Given the description of an element on the screen output the (x, y) to click on. 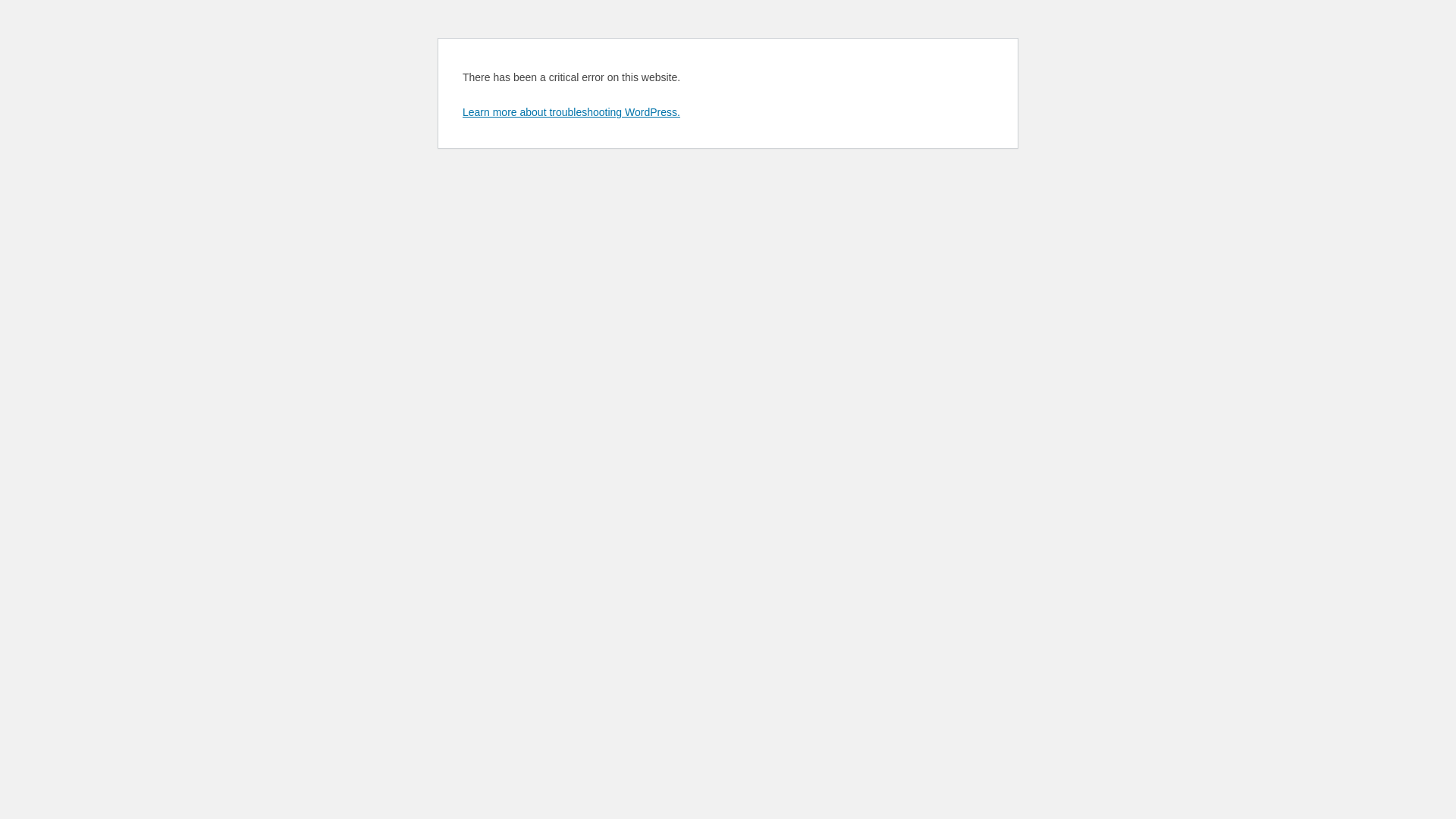
Learn more about troubleshooting WordPress. Element type: text (571, 112)
